Given the description of an element on the screen output the (x, y) to click on. 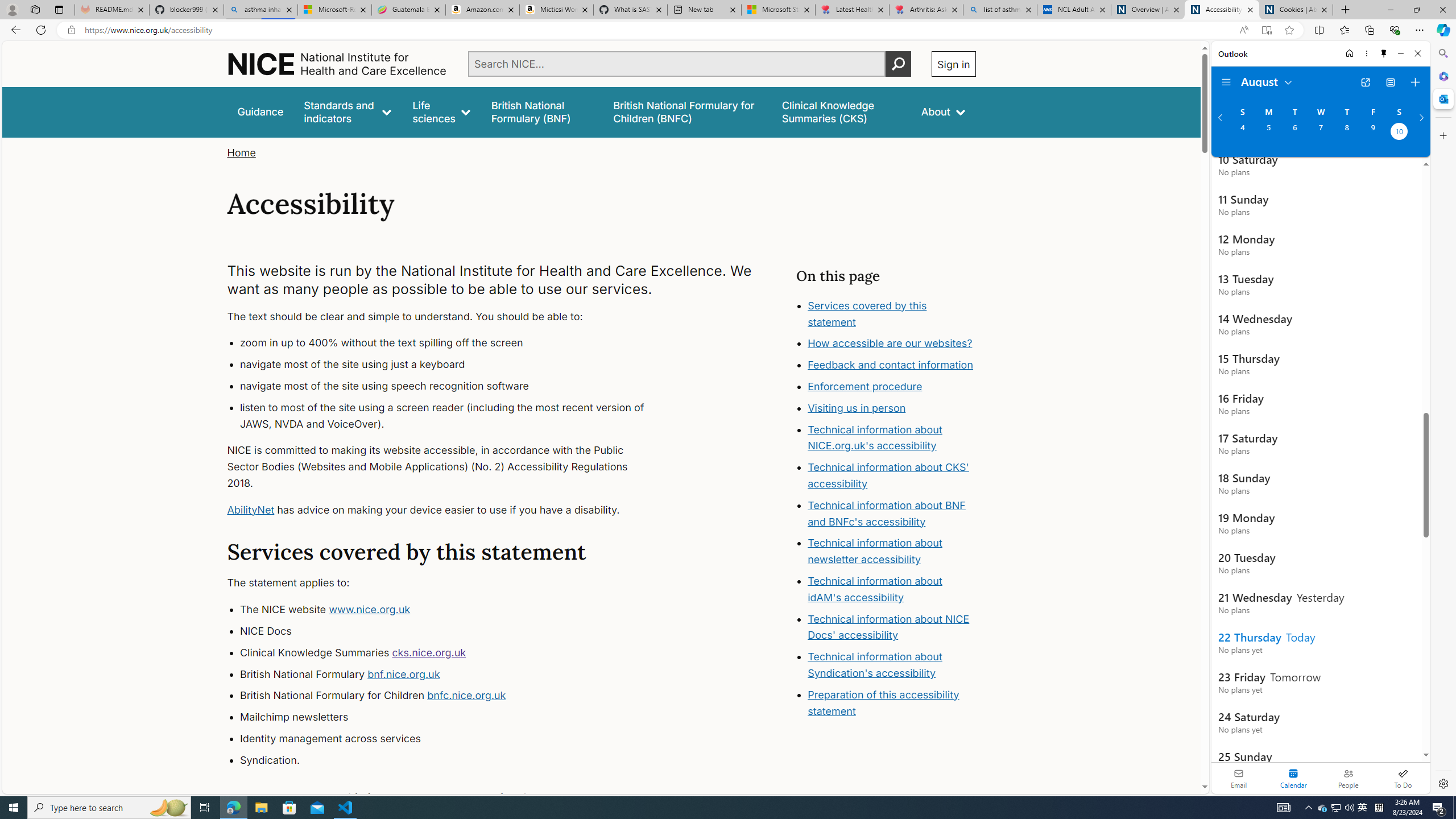
Tuesday, August 6, 2024.  (1294, 132)
Sunday, August 4, 2024.  (1242, 132)
Wednesday, August 7, 2024.  (1320, 132)
How accessible are our websites? (891, 343)
Services covered by this statement (891, 313)
Preparation of this accessibility statement (891, 702)
Feedback and contact information (891, 364)
Folder navigation (1225, 82)
